Given the description of an element on the screen output the (x, y) to click on. 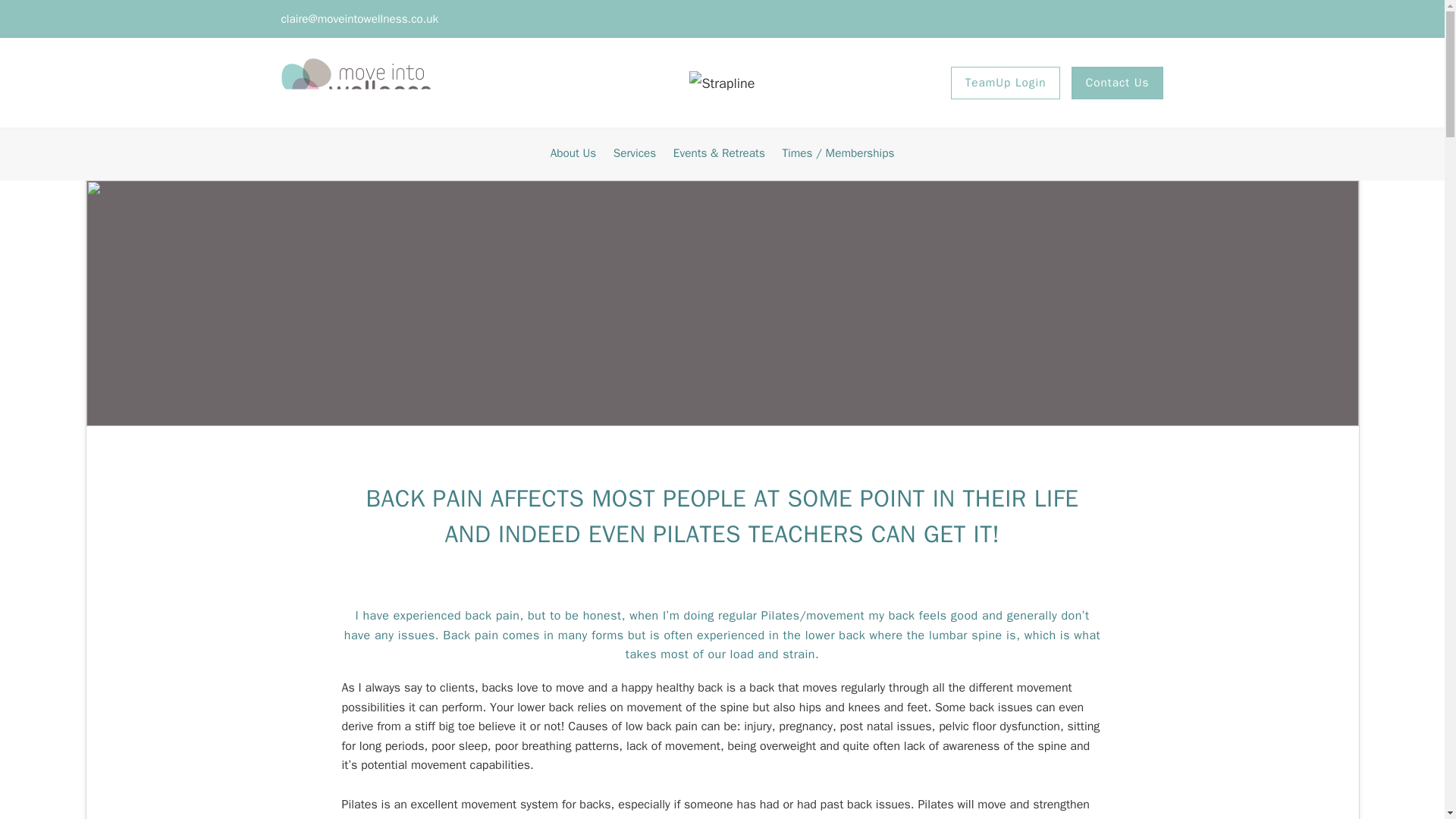
Contact Us (1117, 82)
Services (634, 152)
About Us (573, 152)
TeamUp Login (1005, 82)
